Given the description of an element on the screen output the (x, y) to click on. 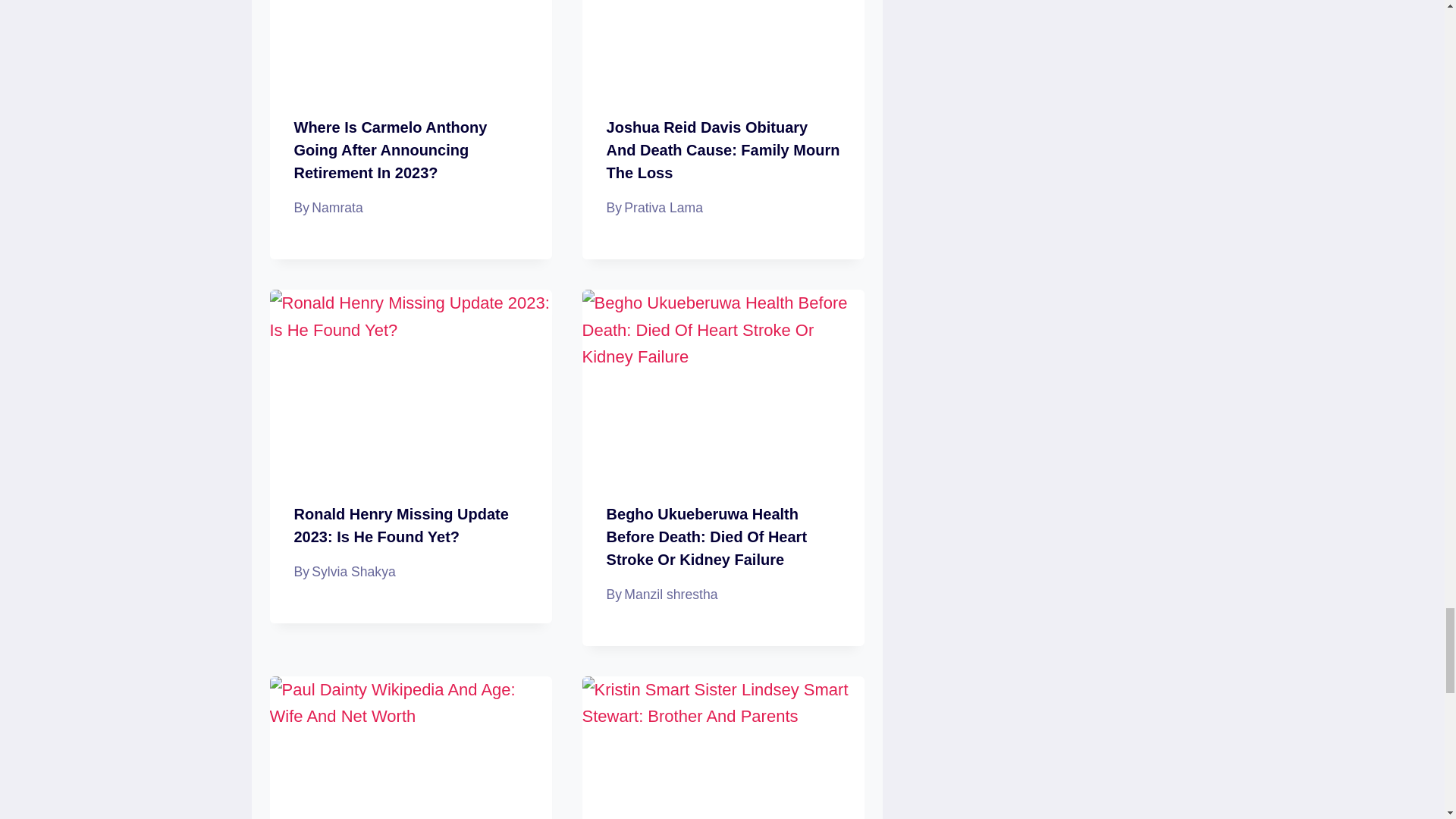
Namrata (336, 207)
